Given the description of an element on the screen output the (x, y) to click on. 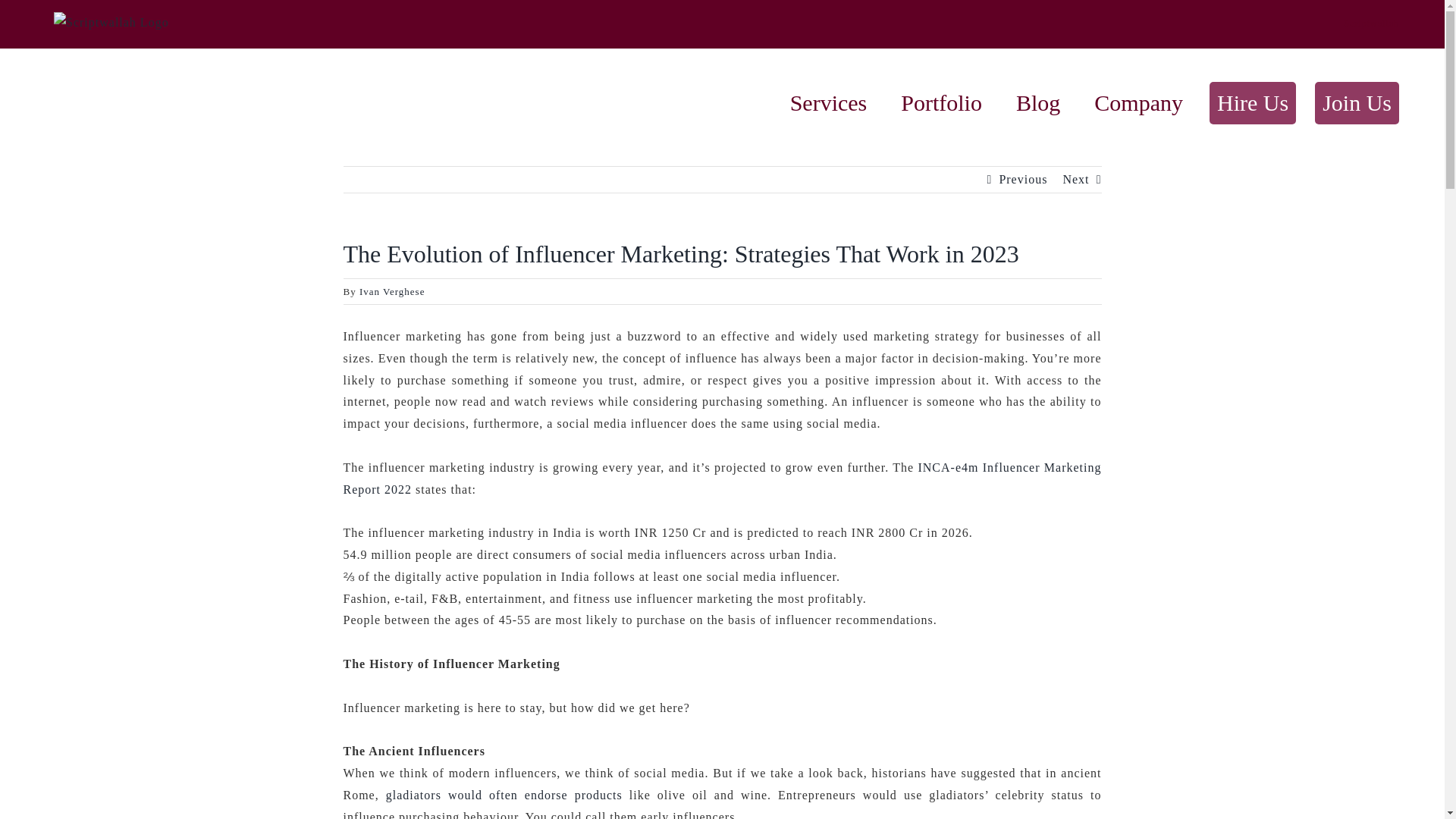
Next (1075, 179)
Services (829, 103)
Ivan Verghese (392, 291)
Join Us (1356, 103)
INCA-e4m Influencer Marketing Report 2022 (721, 478)
Portfolio (941, 103)
Blog (1038, 103)
gladiators would often endorse products (504, 794)
Posts by Ivan Verghese (392, 291)
Previous (1022, 179)
Hire Us (1252, 103)
Company (1138, 103)
